Given the description of an element on the screen output the (x, y) to click on. 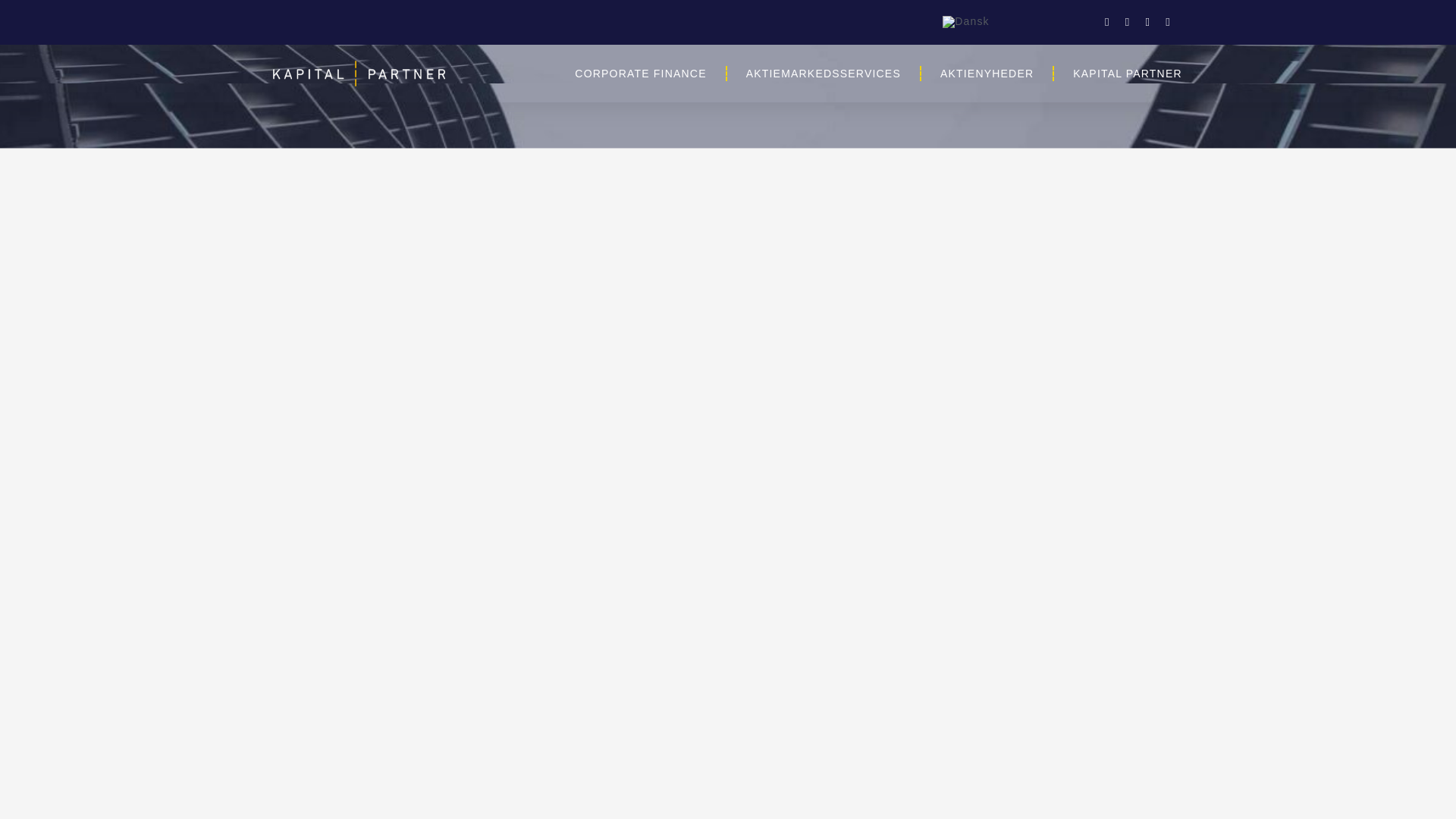
CORPORATE FINANCE (640, 73)
AKTIENYHEDER (986, 73)
AKTIEMARKEDSSERVICES (823, 73)
KAPITAL PARTNER (1127, 73)
